Given the description of an element on the screen output the (x, y) to click on. 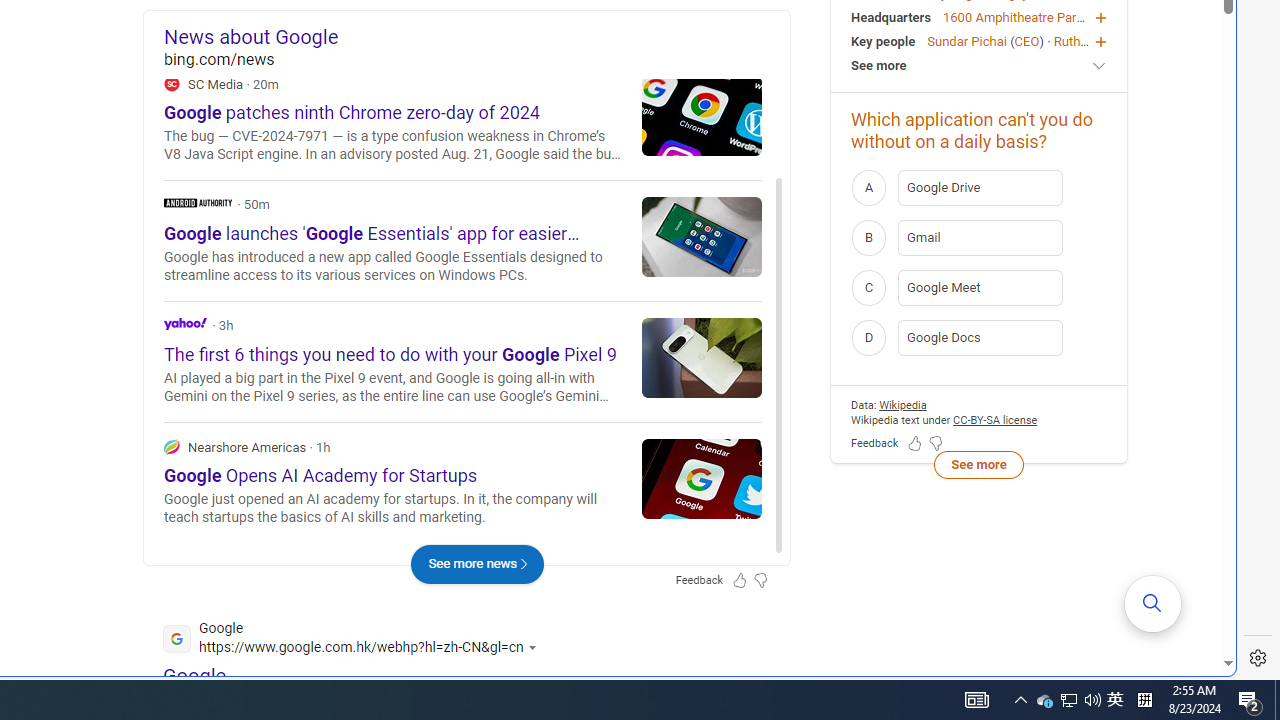
CC-BY-SA license (995, 419)
AutomationID: mfa_root (1153, 603)
Yahoo (462, 360)
Android Authority (197, 201)
D Google Docs (979, 337)
Nearshore Americas (462, 481)
1600 Amphitheatre Parkway (1024, 16)
Google (194, 675)
